Given the description of an element on the screen output the (x, y) to click on. 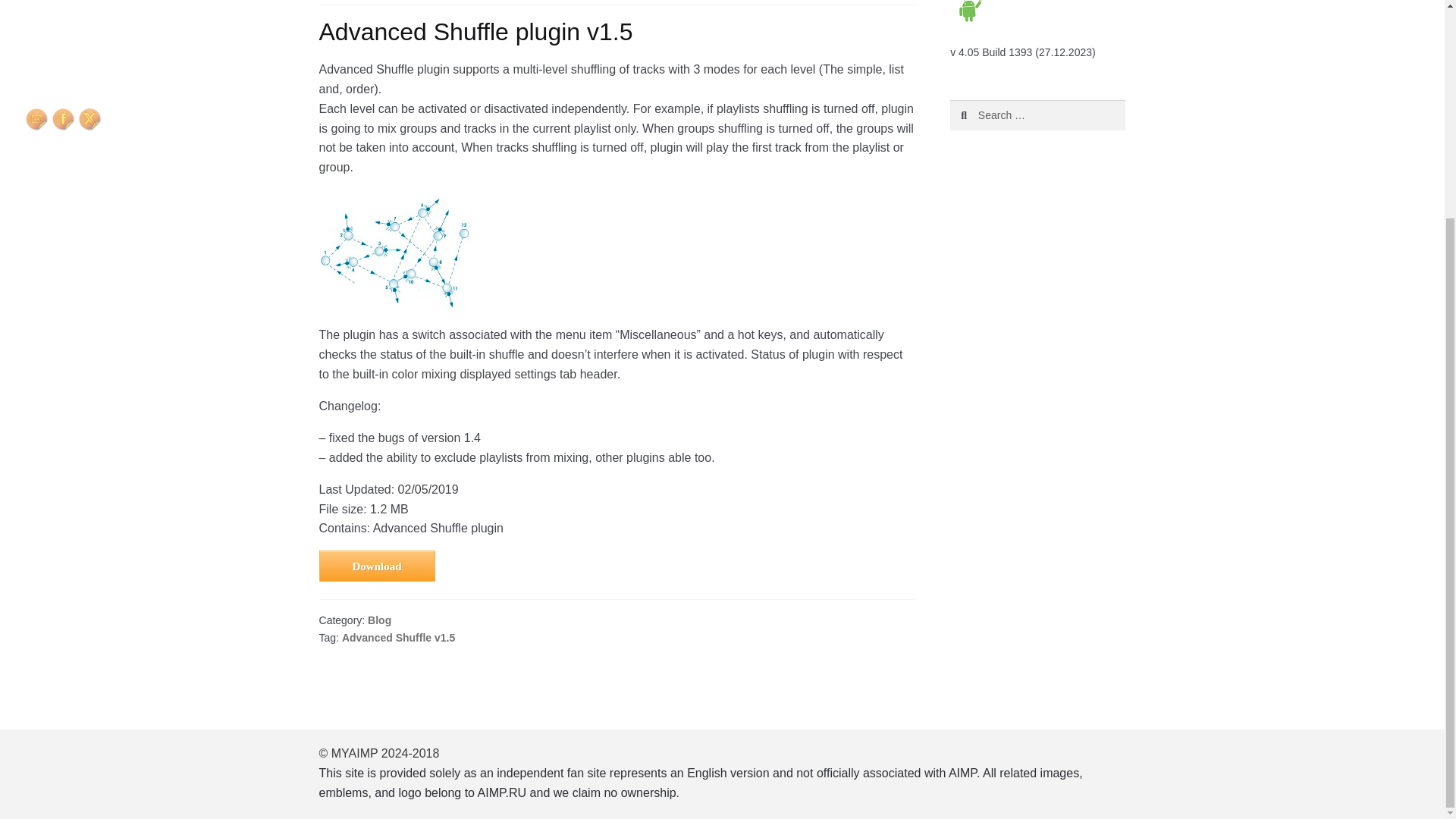
Blog (379, 620)
MYAIMP (700, 782)
Twitter (89, 119)
Download (376, 565)
Facebook (63, 119)
Advanced Shuffle v1.5 (398, 637)
